Given the description of an element on the screen output the (x, y) to click on. 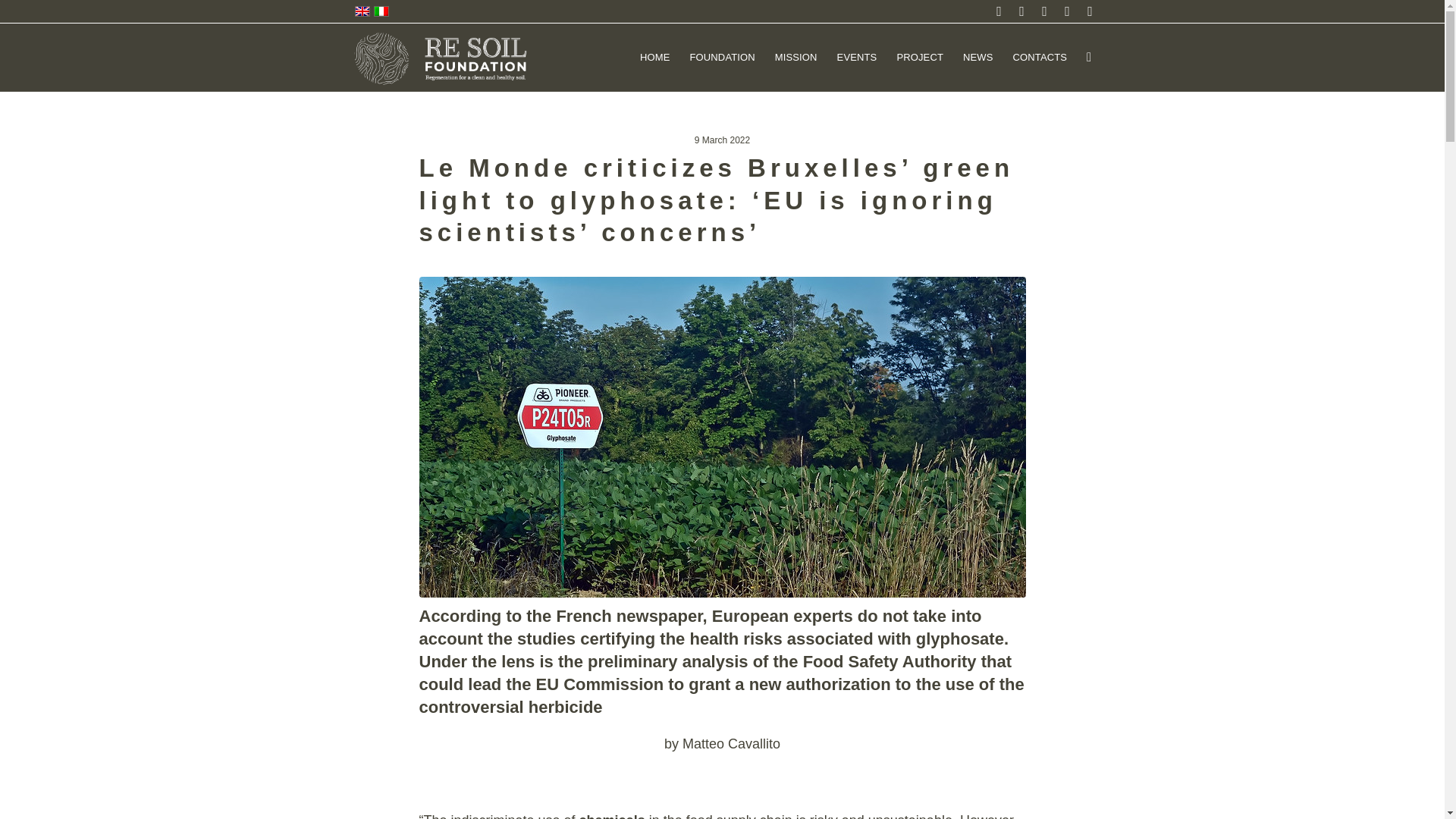
Instagram (1021, 11)
LinkedIn (1066, 11)
Italiano (380, 10)
MISSION (796, 57)
Facebook (1043, 11)
CONTACTS (1040, 57)
FOUNDATION (722, 57)
PROJECT (919, 57)
English (362, 10)
Youtube (1089, 11)
